Given the description of an element on the screen output the (x, y) to click on. 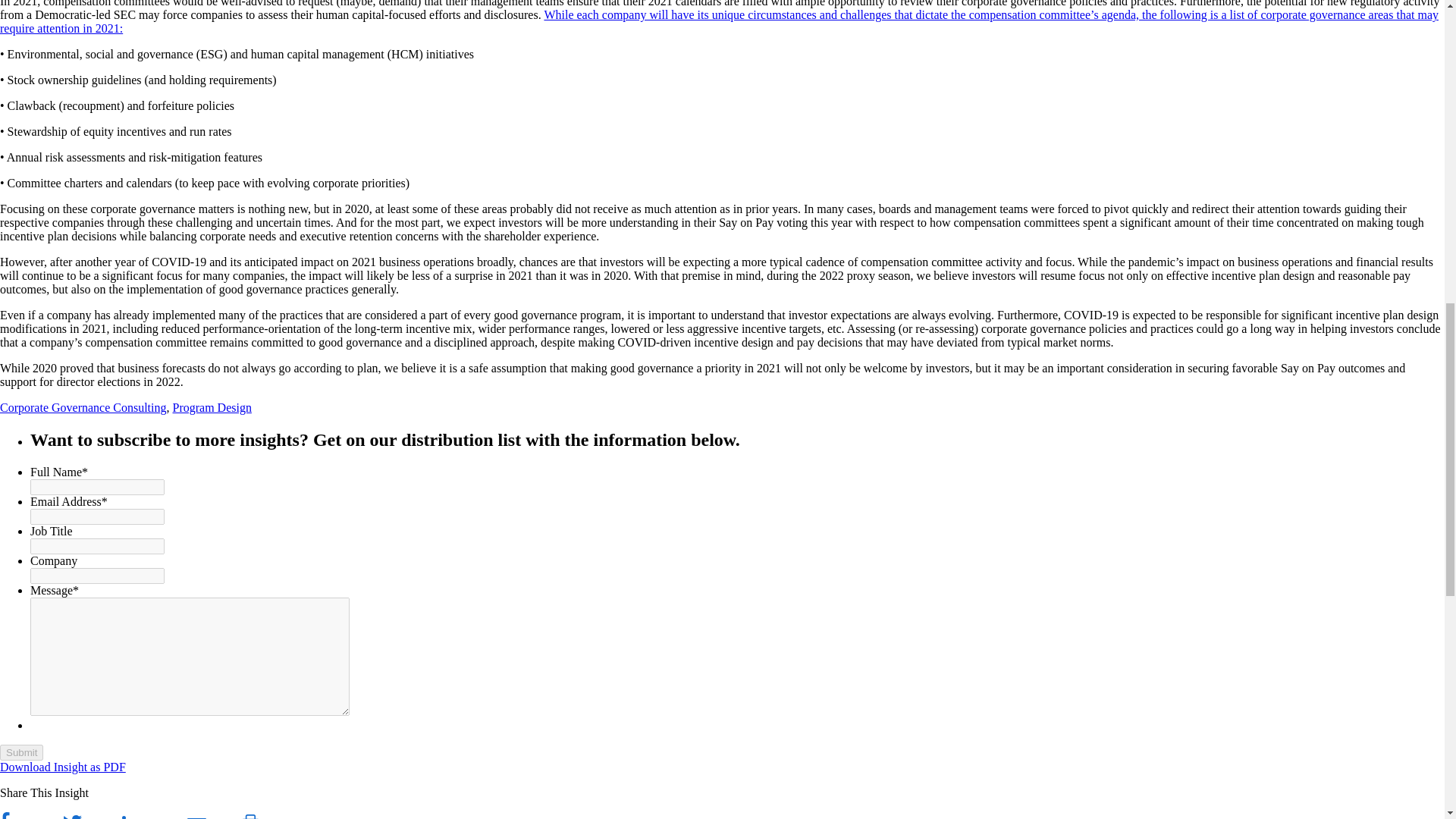
Submit (21, 752)
Program Design (212, 407)
Download Insight as PDF (62, 766)
Submit (21, 752)
Corporate Governance Consulting (83, 407)
